Given the description of an element on the screen output the (x, y) to click on. 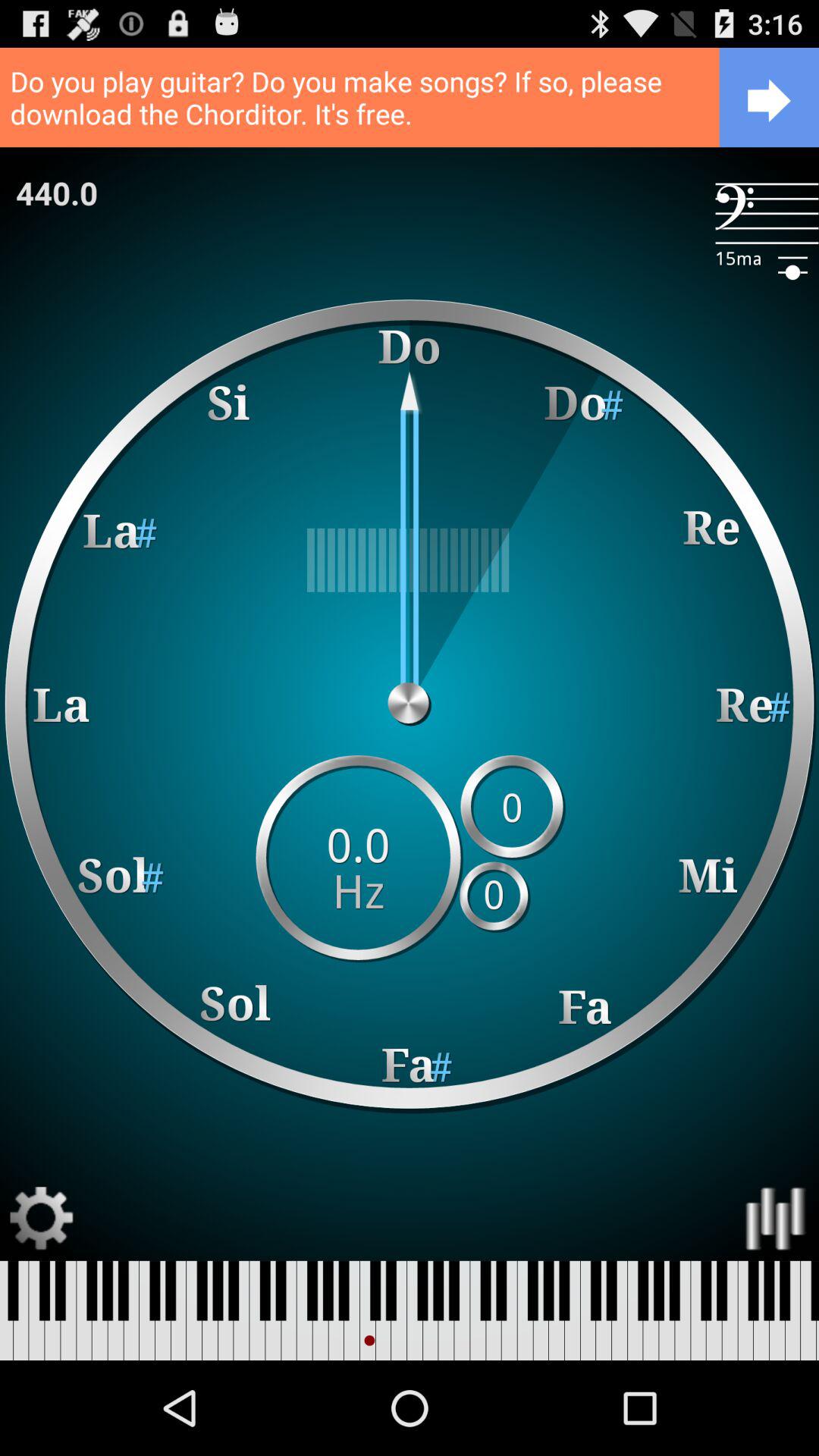
launch 440.0 icon (56, 192)
